Given the description of an element on the screen output the (x, y) to click on. 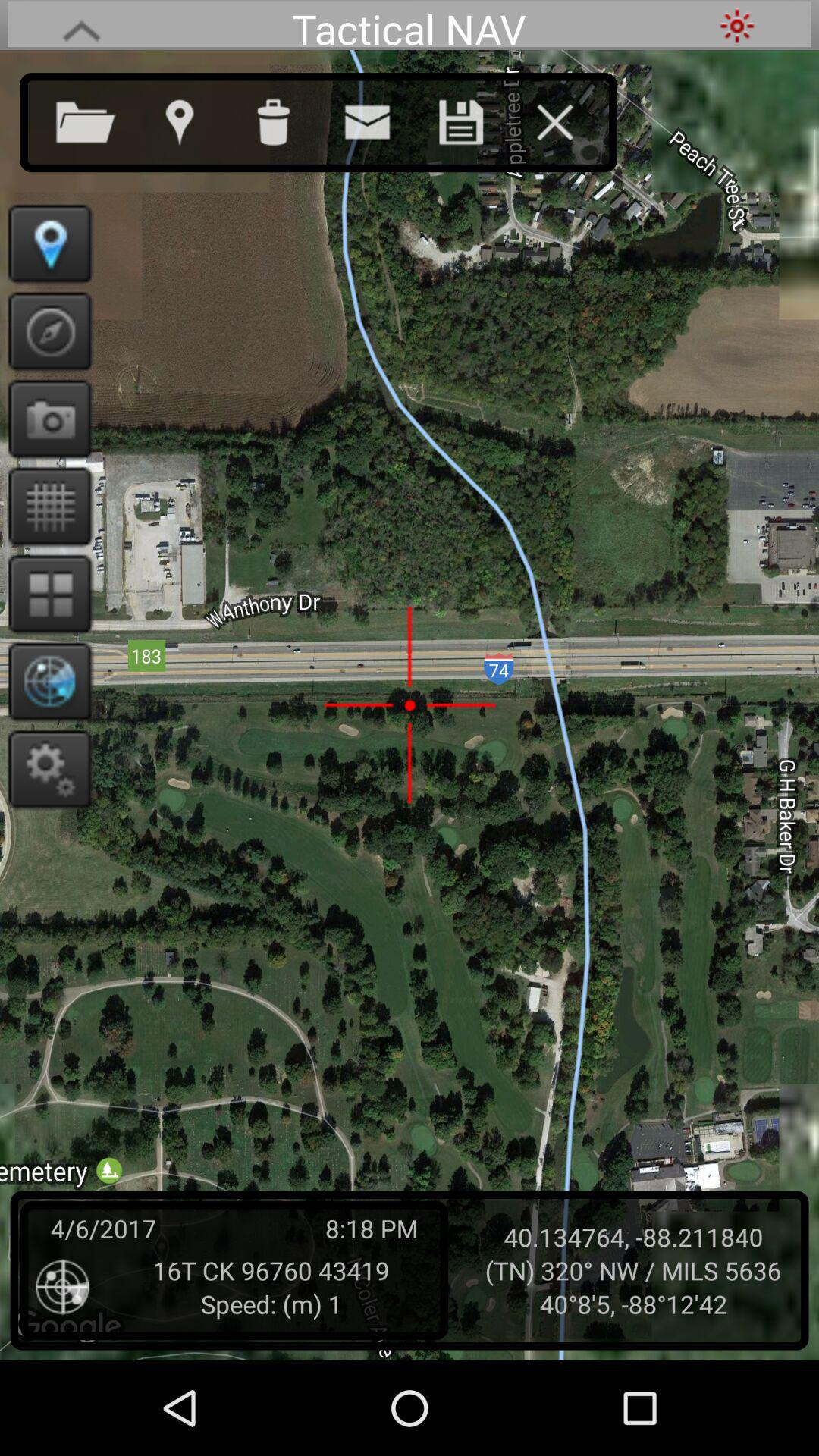
settings options (45, 768)
